Given the description of an element on the screen output the (x, y) to click on. 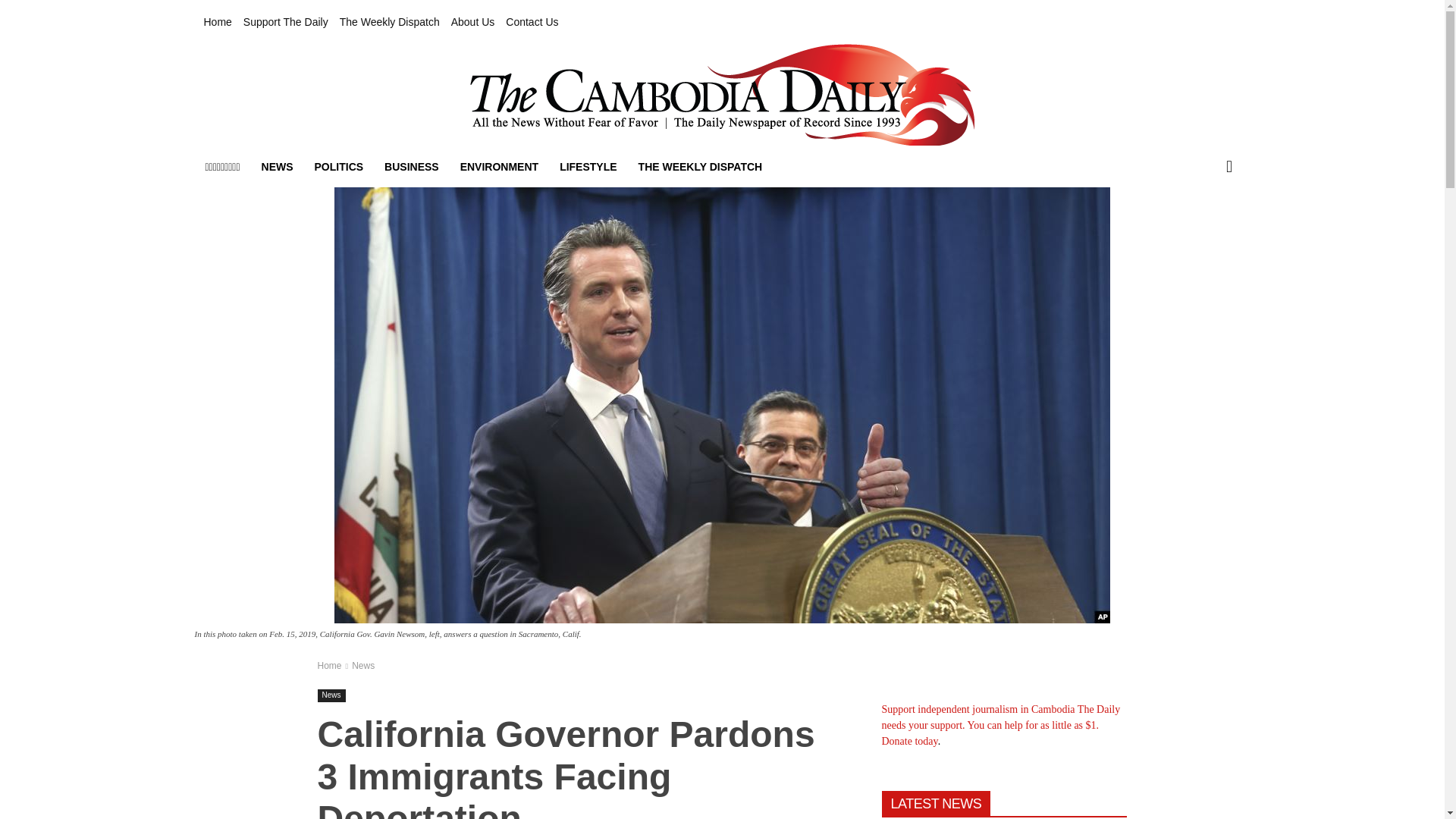
News (363, 665)
THE WEEKLY DISPATCH (700, 166)
View all posts in News (363, 665)
The Weekly Dispatch (389, 21)
Support The Daily (286, 21)
All the news without fear or favor (721, 94)
NEWS (277, 166)
LIFESTYLE (587, 166)
All the news without fear or favor (722, 94)
Home (217, 21)
